Given the description of an element on the screen output the (x, y) to click on. 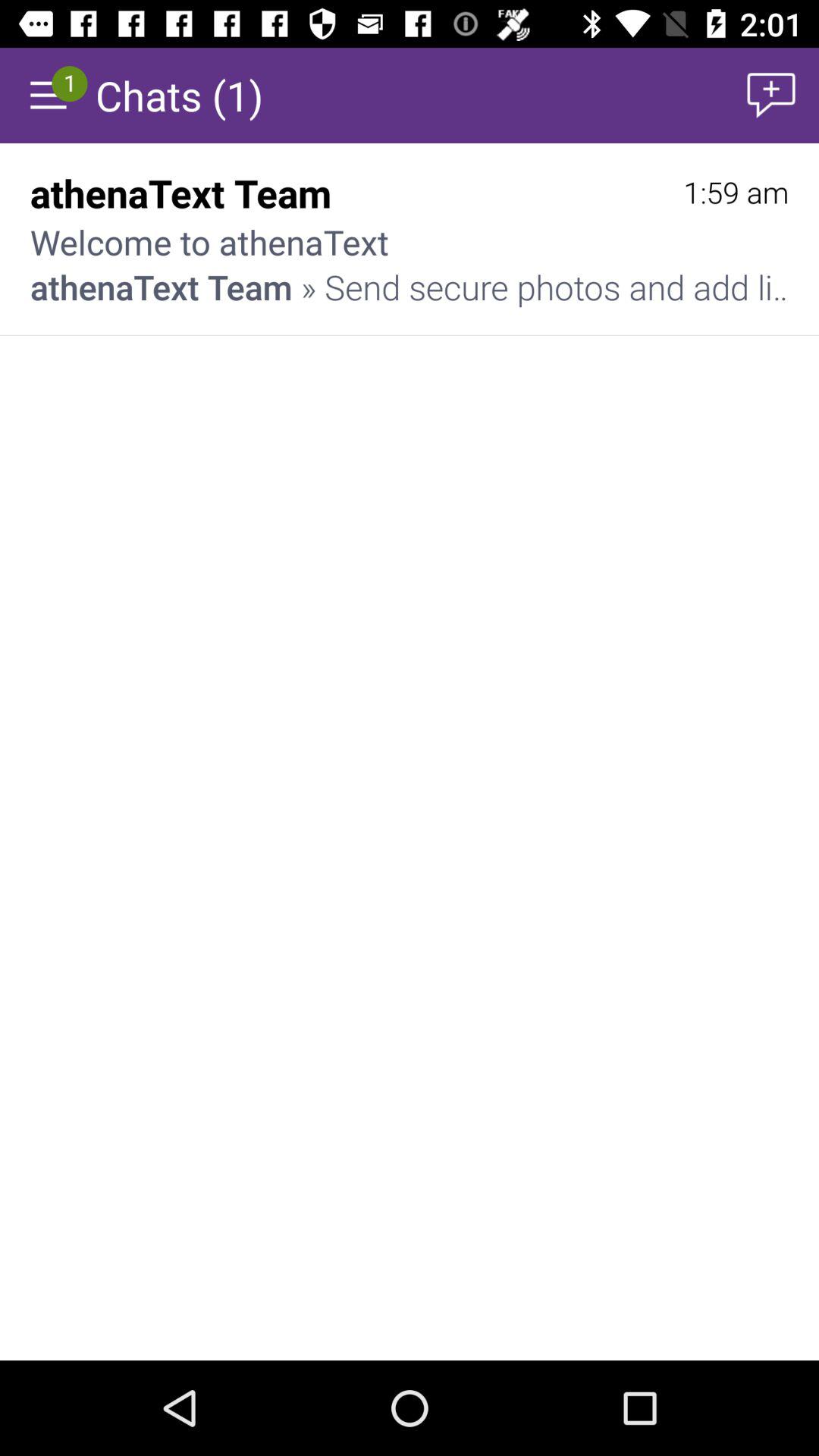
choose item to the right of the athenatext team item (735, 192)
